Given the description of an element on the screen output the (x, y) to click on. 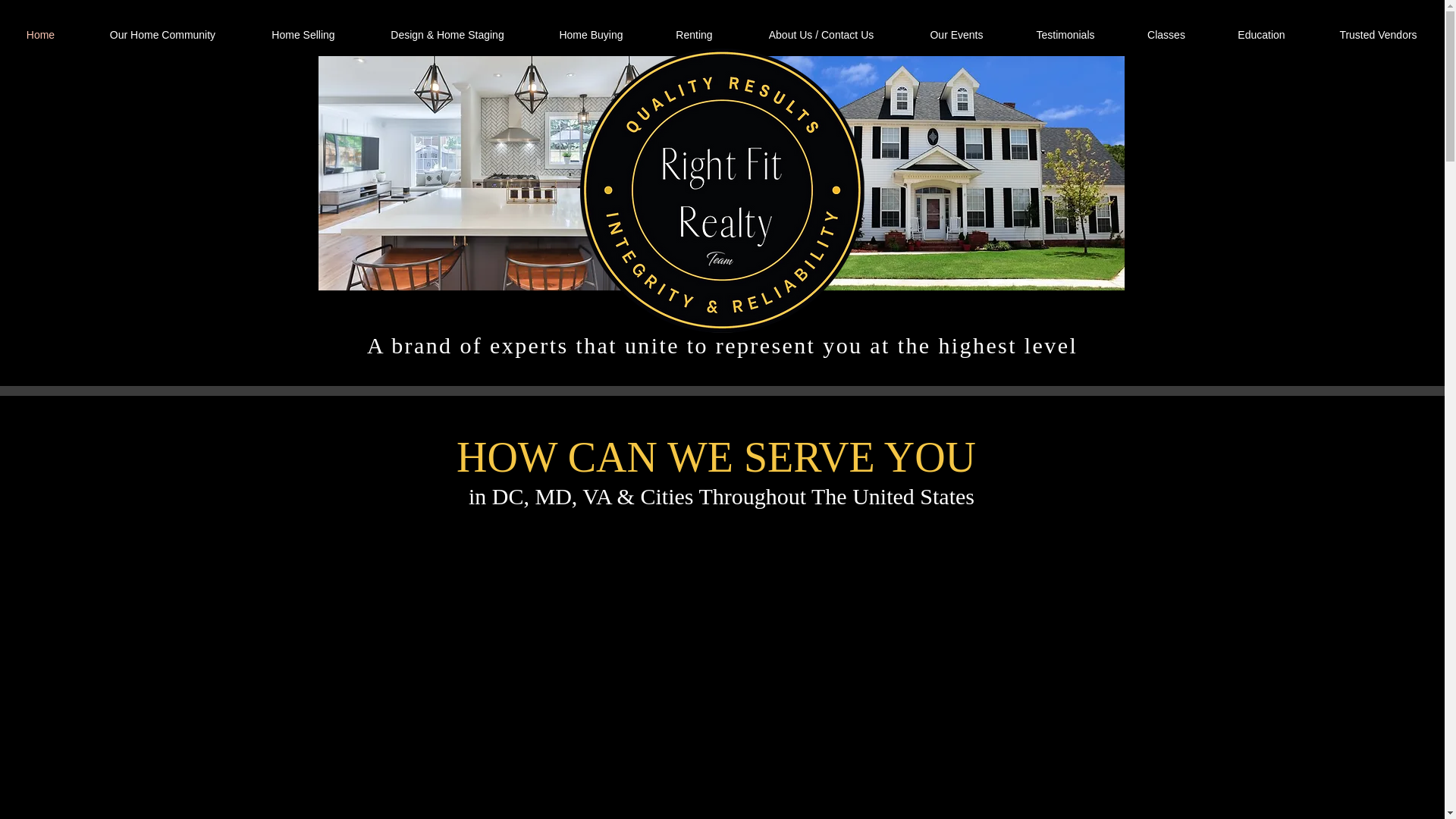
Education (1261, 34)
Classes (1166, 34)
Our Home Community (162, 34)
Renting (693, 34)
Our Events (956, 34)
Testimonials (1065, 34)
Home (40, 34)
Home Selling (303, 34)
Home Buying (590, 34)
